Given the description of an element on the screen output the (x, y) to click on. 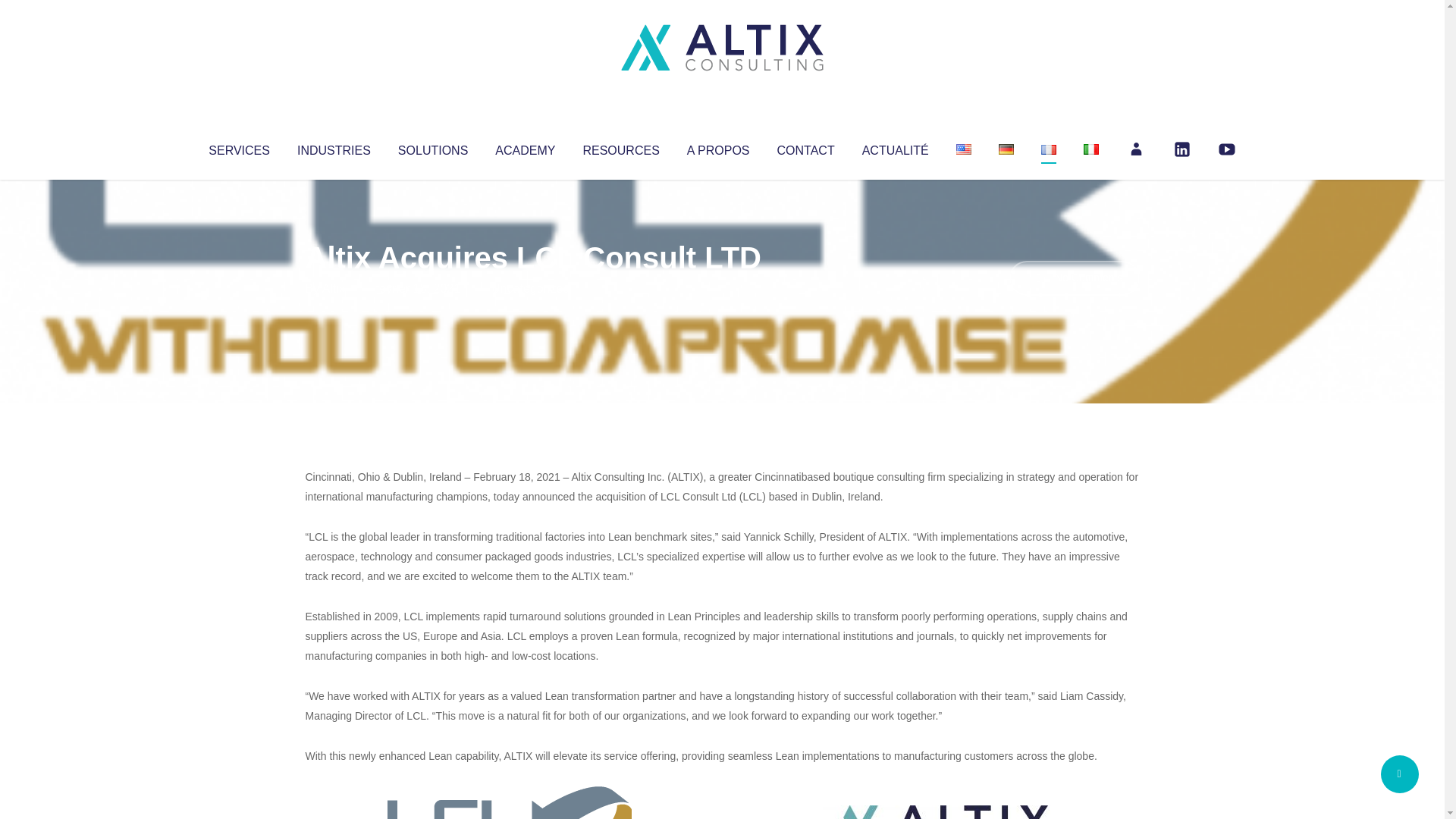
A PROPOS (718, 146)
Altix (333, 287)
RESOURCES (620, 146)
Uncategorized (530, 287)
SOLUTIONS (432, 146)
SERVICES (238, 146)
No Comments (1073, 278)
ACADEMY (524, 146)
INDUSTRIES (334, 146)
Articles par Altix (333, 287)
